Given the description of an element on the screen output the (x, y) to click on. 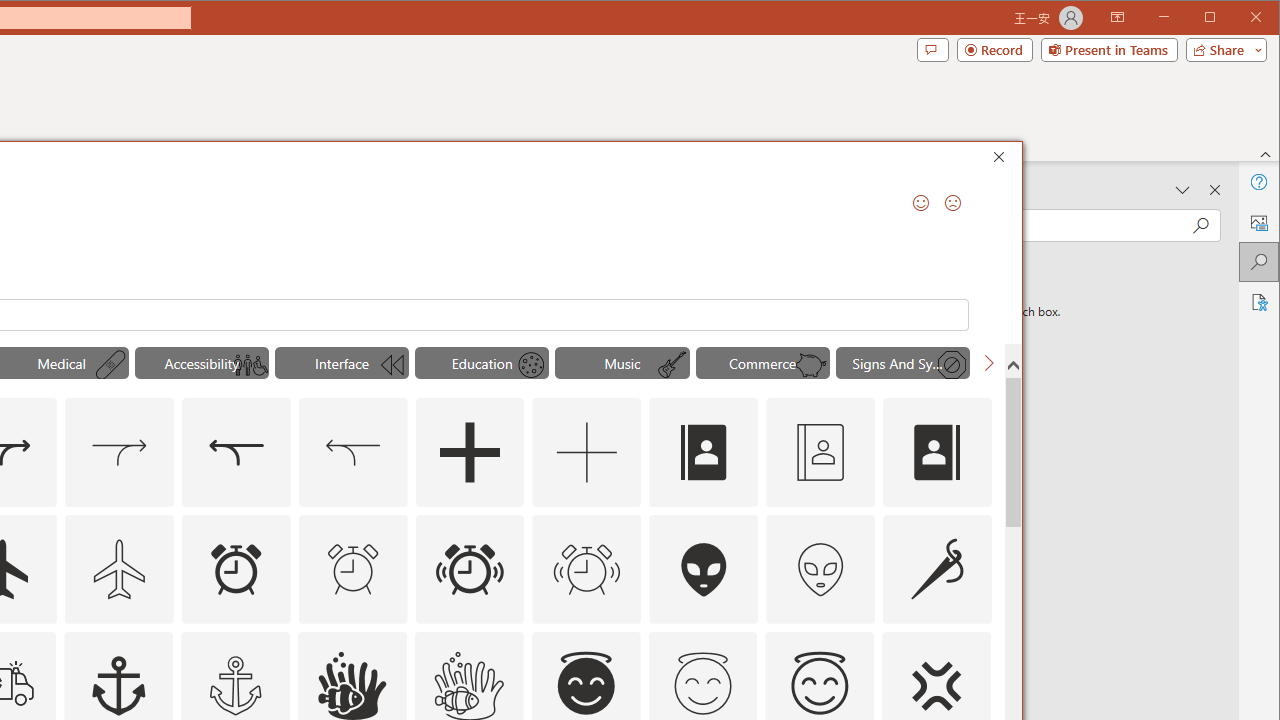
AutomationID: Icons_AddressBook_LTR_M (820, 452)
AutomationID: Icons_AlienFace (703, 568)
AutomationID: Icons_Acquisition_RTL_M (353, 452)
AutomationID: Icons_UniversalAccess_M (250, 365)
"Commerce" Icons. (762, 362)
Next Search Suggestion (988, 362)
AutomationID: Icons (703, 683)
AutomationID: Icons_Acquisition_LTR_M (118, 452)
